Given the description of an element on the screen output the (x, y) to click on. 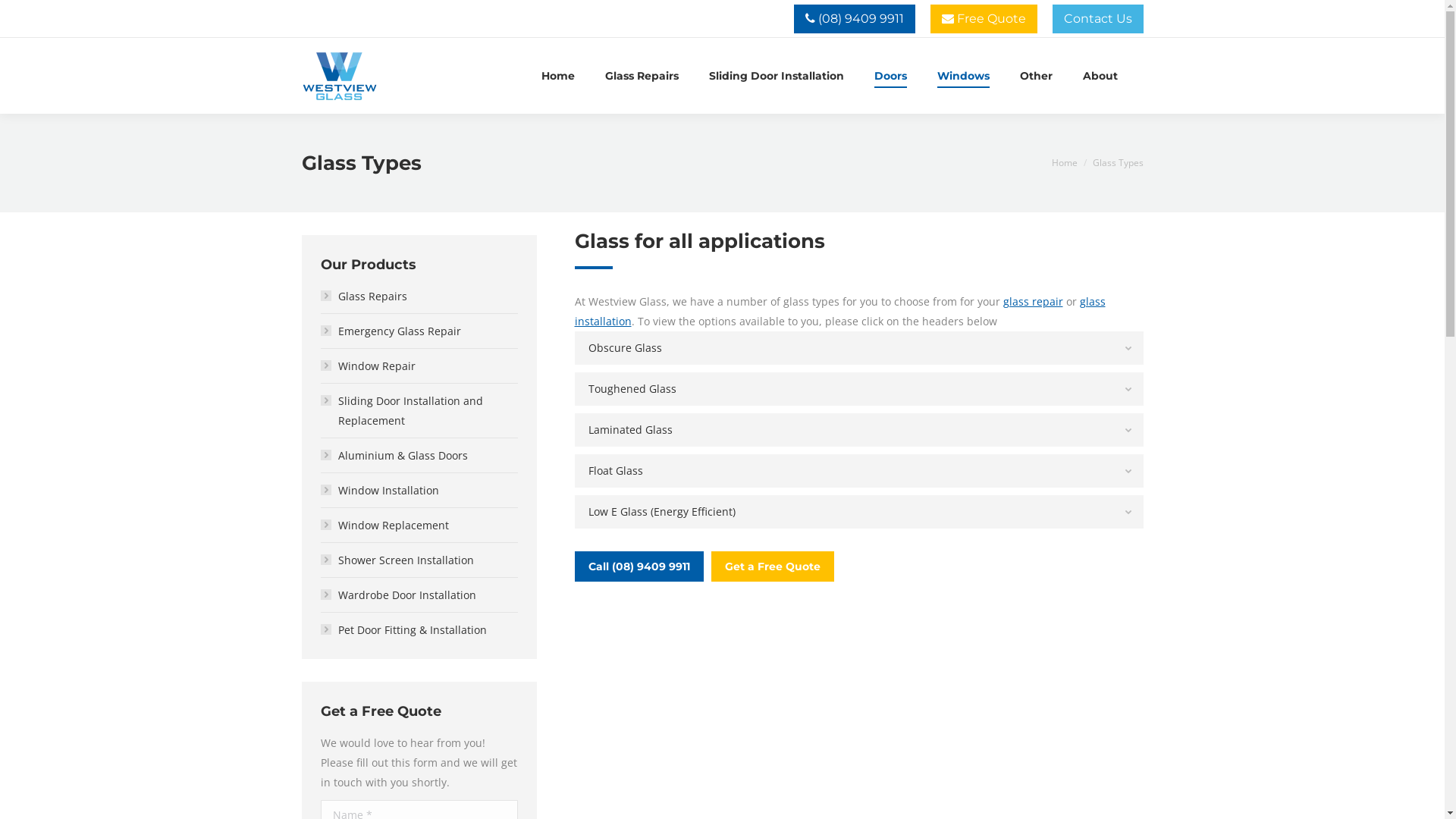
About Element type: text (1099, 75)
Toughened Glass Element type: text (858, 388)
 (08) 9409 9911 Element type: text (853, 18)
Wardrobe Door Installation Element type: text (403, 595)
Aluminium & Glass Doors Element type: text (399, 455)
glass installation Element type: text (839, 311)
Pet Door Fitting & Installation Element type: text (408, 630)
Window Replacement Element type: text (389, 525)
Laminated Glass Element type: text (858, 429)
Low E Glass (Energy Efficient) Element type: text (858, 511)
Window Installation Element type: text (384, 490)
Get a Free Quote Element type: text (772, 566)
Shower Screen Installation Element type: text (402, 560)
  Element type: text (1141, 75)
Glass Repairs Element type: text (368, 296)
Emergency Glass Repair Element type: text (395, 331)
glass repair Element type: text (1032, 301)
Other Element type: text (1035, 75)
Window Repair Element type: text (373, 366)
Home Element type: text (557, 75)
Obscure Glass Element type: text (858, 347)
Go! Element type: text (22, 14)
Call (08) 9409 9911 Element type: text (638, 566)
Home Element type: text (1063, 162)
Windows Element type: text (963, 75)
Glass Repairs Element type: text (641, 75)
Contact Us Element type: text (1097, 18)
 Free Quote Element type: text (982, 18)
Doors Element type: text (889, 75)
Sliding Door Installation and Replacement Element type: text (418, 410)
Float Glass Element type: text (858, 470)
Sliding Door Installation Element type: text (775, 75)
